Given the description of an element on the screen output the (x, y) to click on. 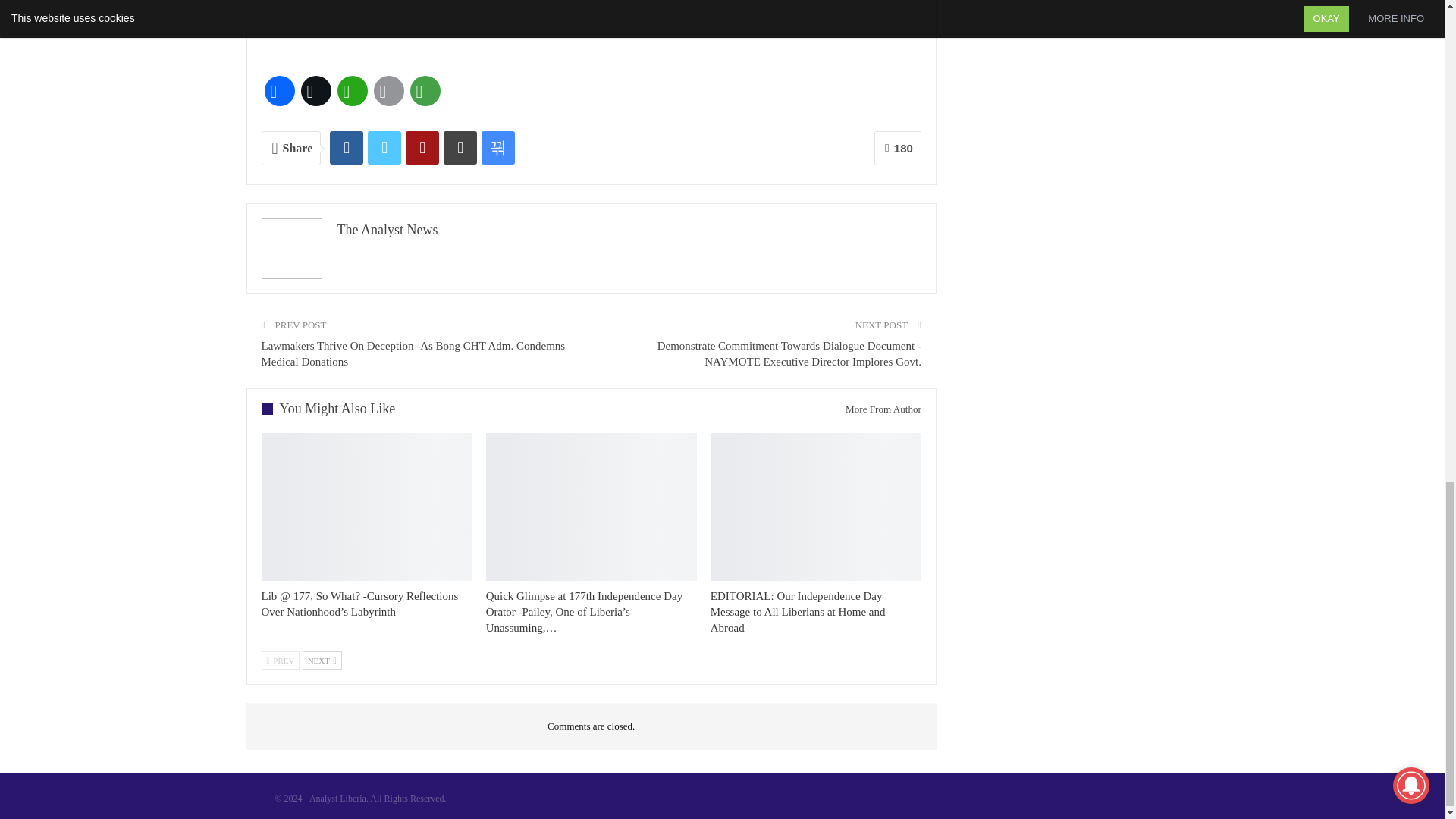
More Options (424, 90)
Facebook (278, 90)
Email This (387, 90)
WhatsApp (351, 90)
